Given the description of an element on the screen output the (x, y) to click on. 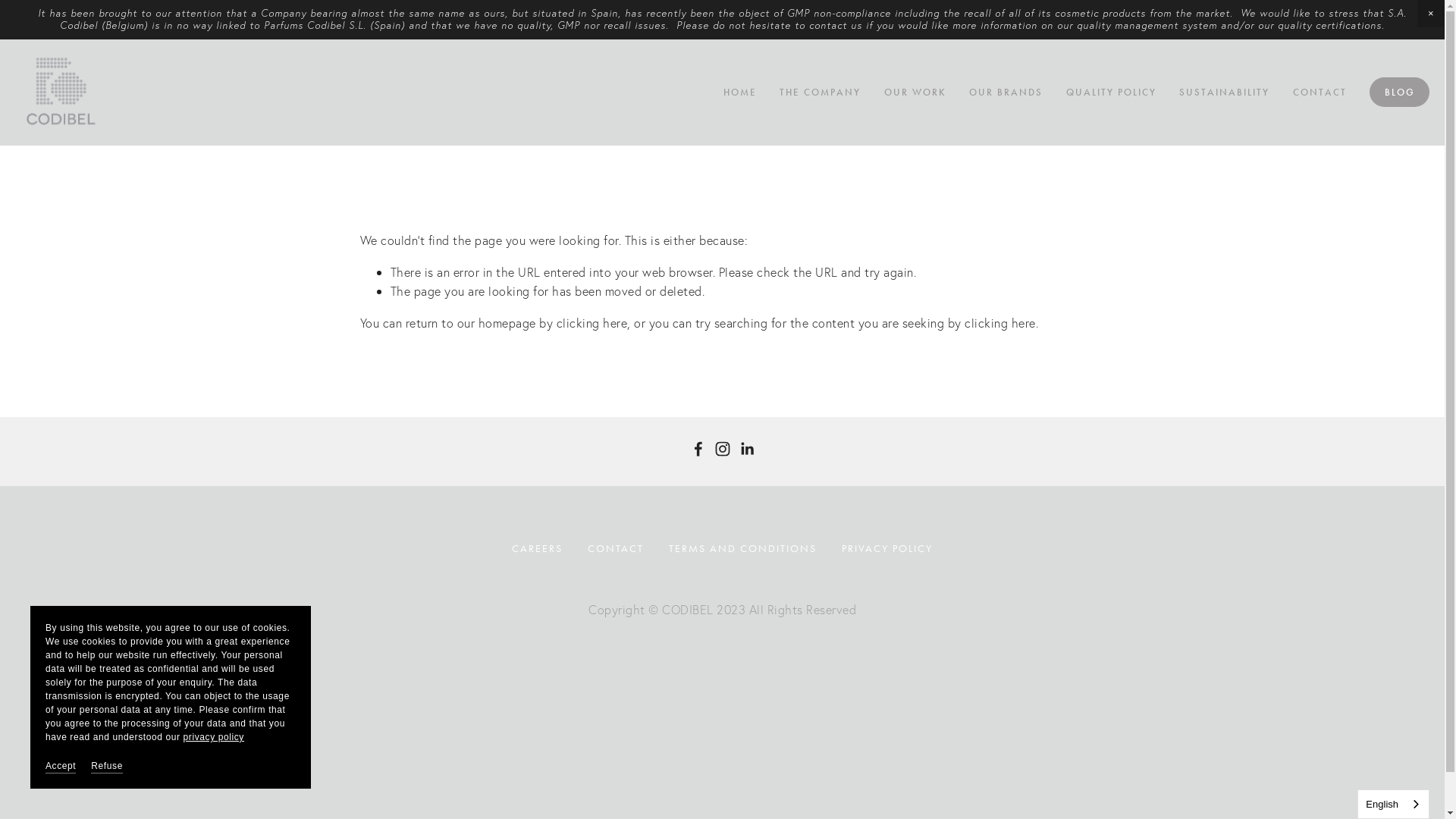
BLOG Element type: text (1399, 91)
SUSTAINABILITY Element type: text (1224, 92)
OUR BRANDS Element type: text (1005, 92)
HOME Element type: text (738, 92)
privacy policy Element type: text (213, 736)
PRIVACY POLICY Element type: text (881, 549)
CAREERS Element type: text (542, 549)
THE COMPANY Element type: text (819, 92)
TERMS AND CONDITIONS Element type: text (742, 549)
clicking here Element type: text (591, 322)
OUR WORK Element type: text (914, 92)
CONTACT Element type: text (1319, 92)
Accept Element type: text (60, 766)
QUALITY POLICY Element type: text (1110, 92)
Refuse Element type: text (106, 766)
clicking here Element type: text (999, 322)
English Element type: text (1393, 804)
CONTACT Element type: text (615, 549)
